Given the description of an element on the screen output the (x, y) to click on. 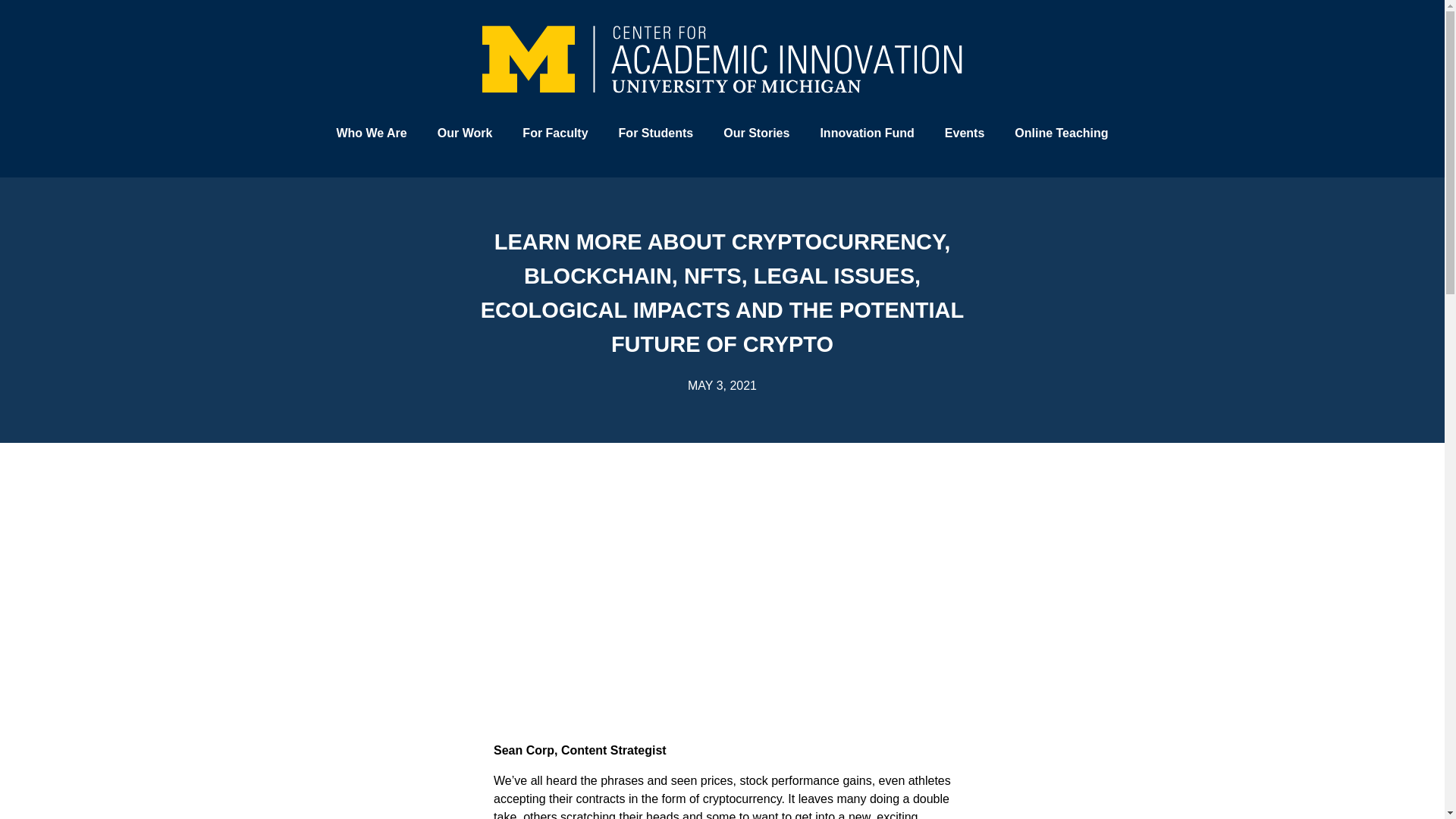
Our Stories (756, 132)
For Students (656, 132)
Who We Are (371, 132)
Events (964, 132)
Online Teaching (1060, 132)
For Faculty (554, 132)
Innovation Fund (866, 132)
Our Work (465, 132)
